Given the description of an element on the screen output the (x, y) to click on. 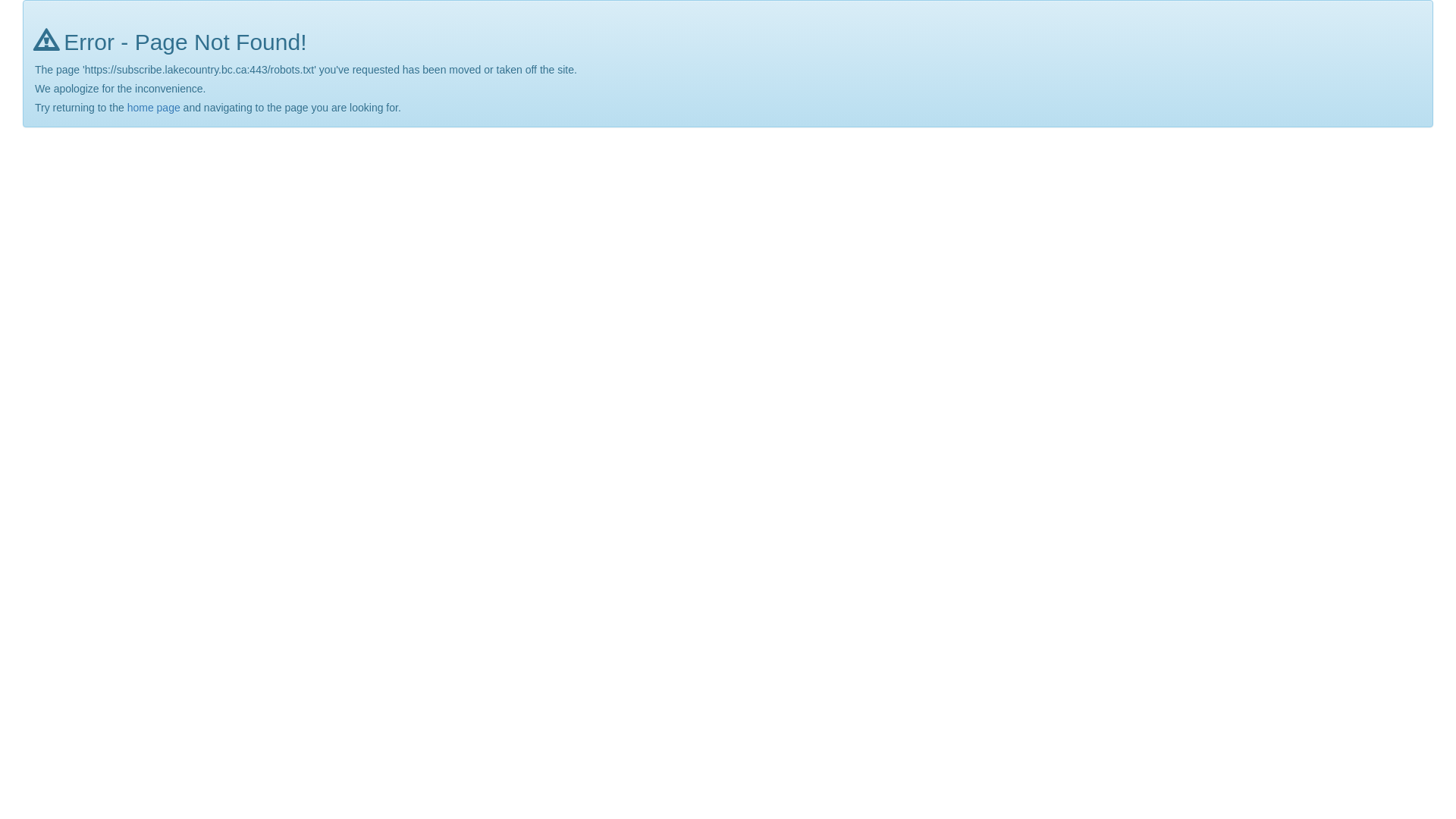
home page Element type: text (153, 107)
